Given the description of an element on the screen output the (x, y) to click on. 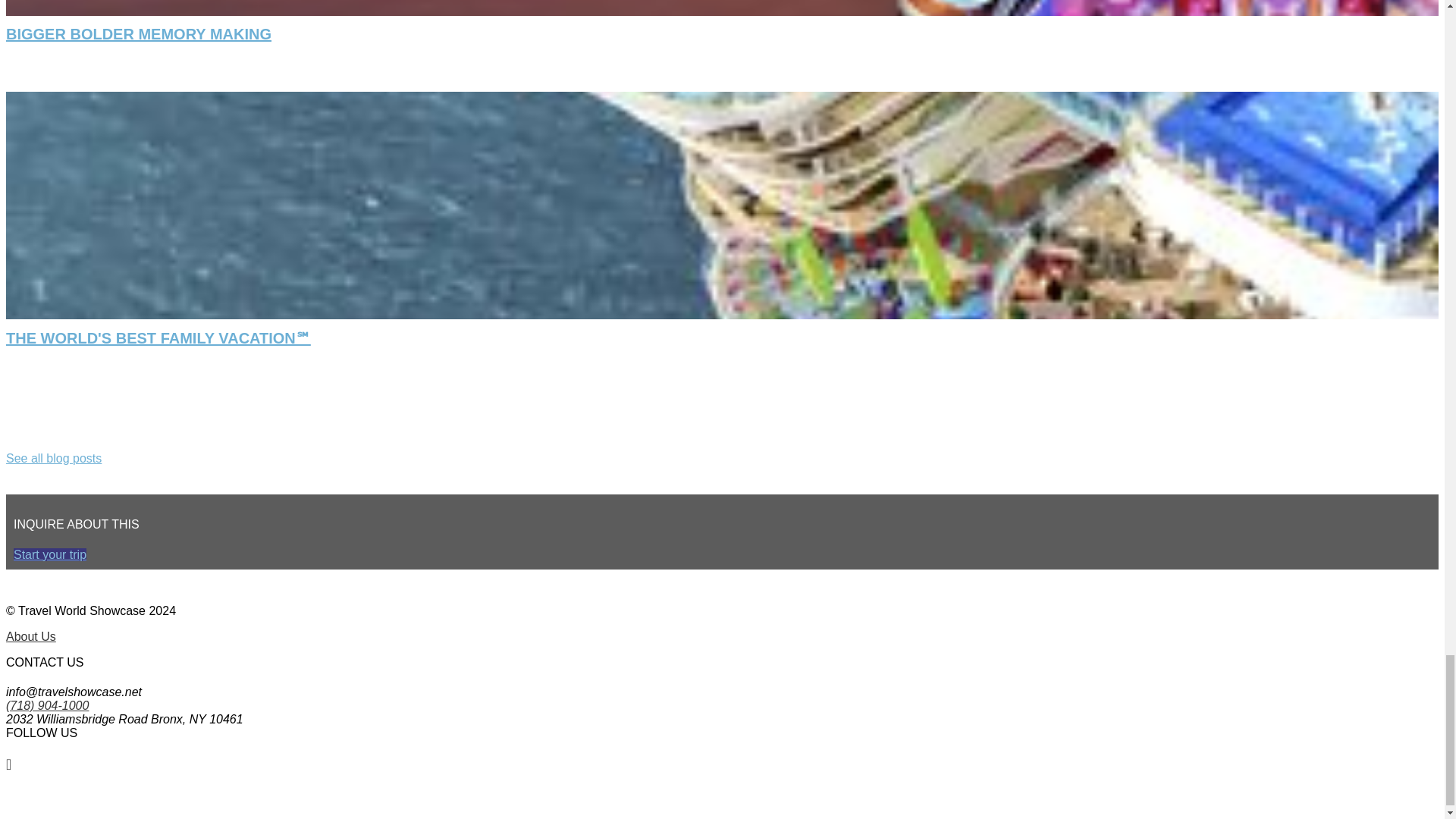
See all blog posts (53, 458)
Start your trip (49, 554)
About Us (30, 635)
